Given the description of an element on the screen output the (x, y) to click on. 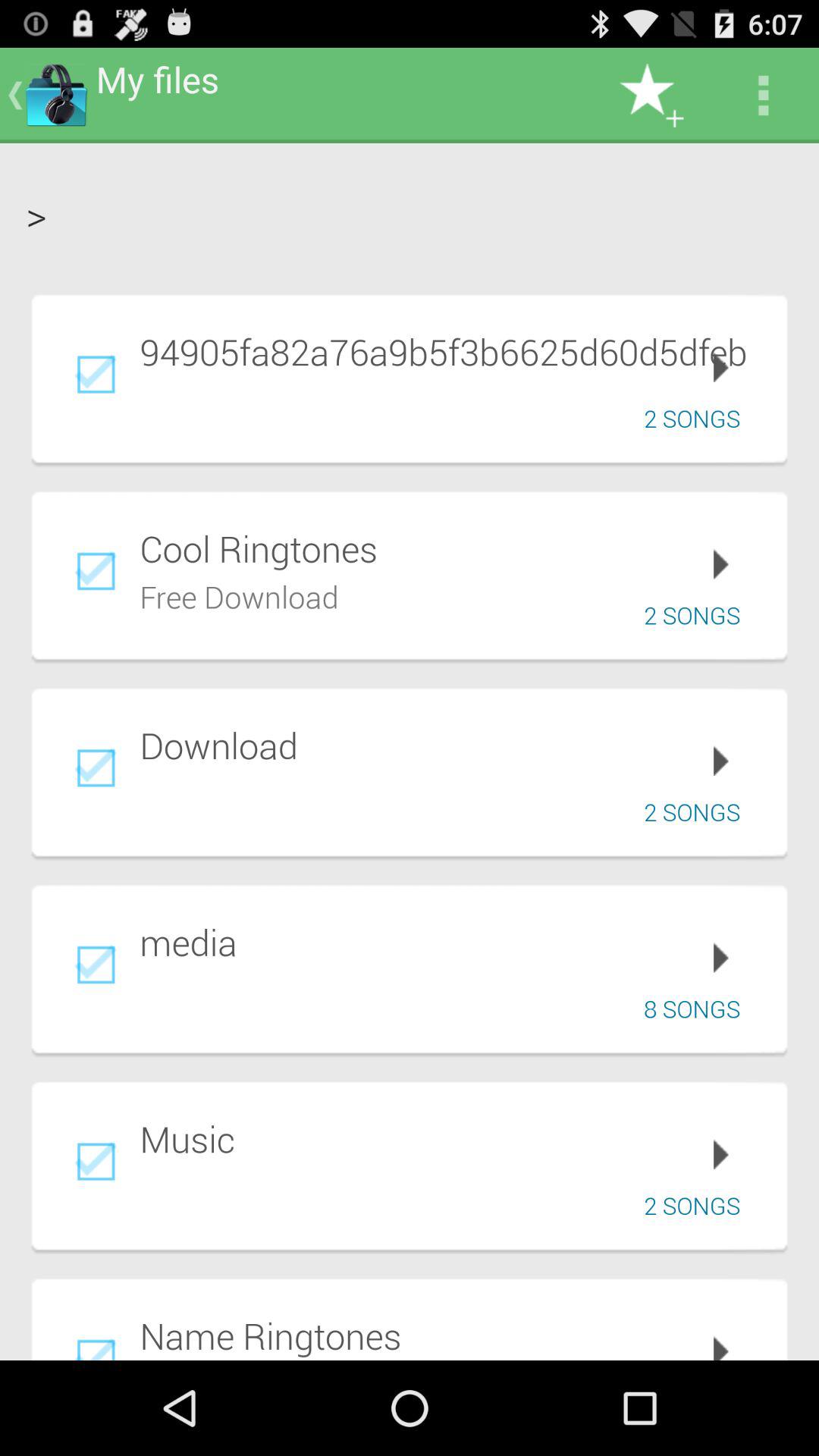
click icon to the right of my files app (651, 95)
